Given the description of an element on the screen output the (x, y) to click on. 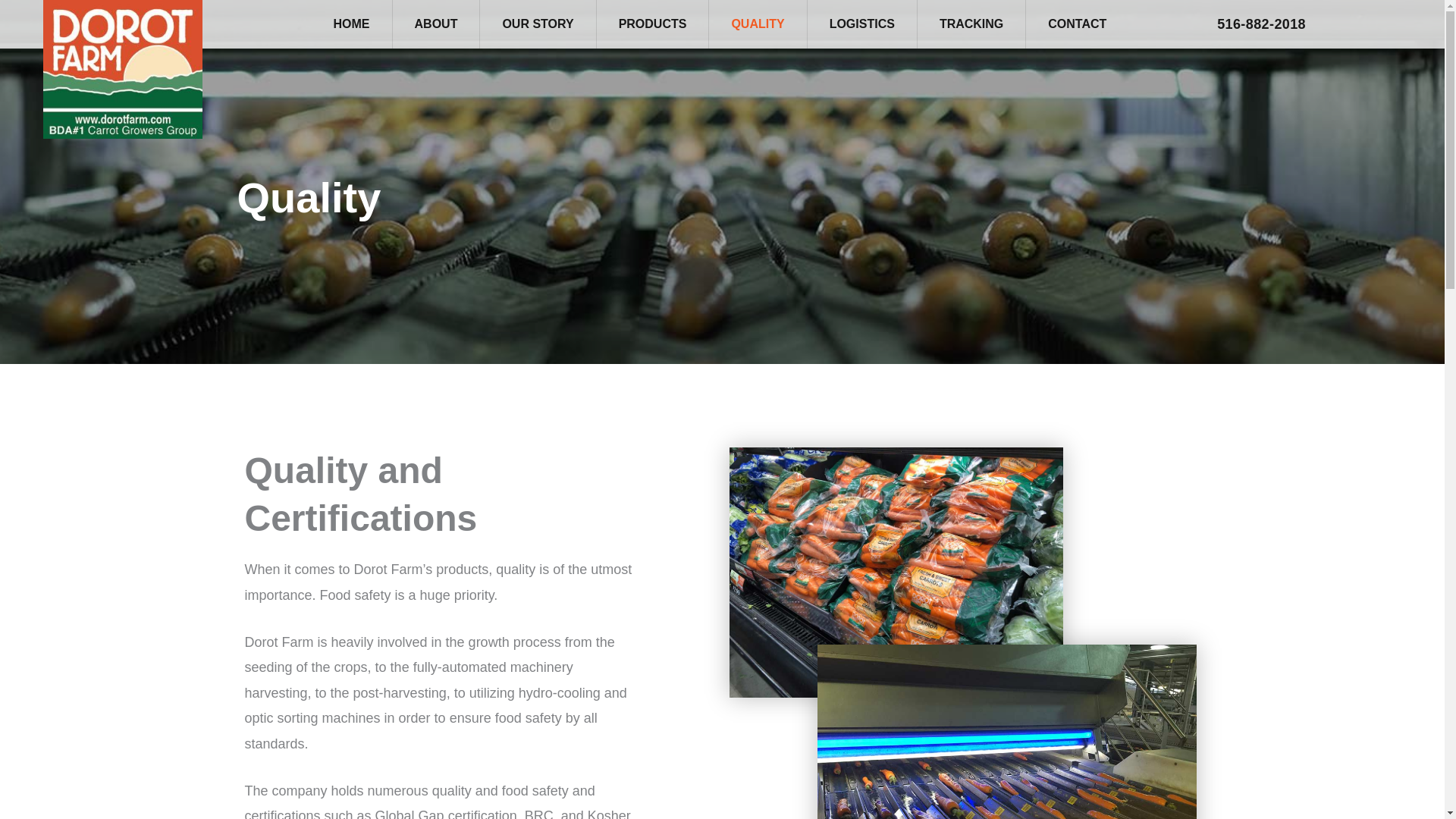
HOME (351, 24)
LOGISTICS (861, 24)
QUALITY (757, 24)
CONTACT (1076, 24)
ABOUT (435, 24)
PRODUCTS (652, 24)
TRACKING (970, 24)
516-882-2018 (1261, 23)
OUR STORY (537, 24)
